Given the description of an element on the screen output the (x, y) to click on. 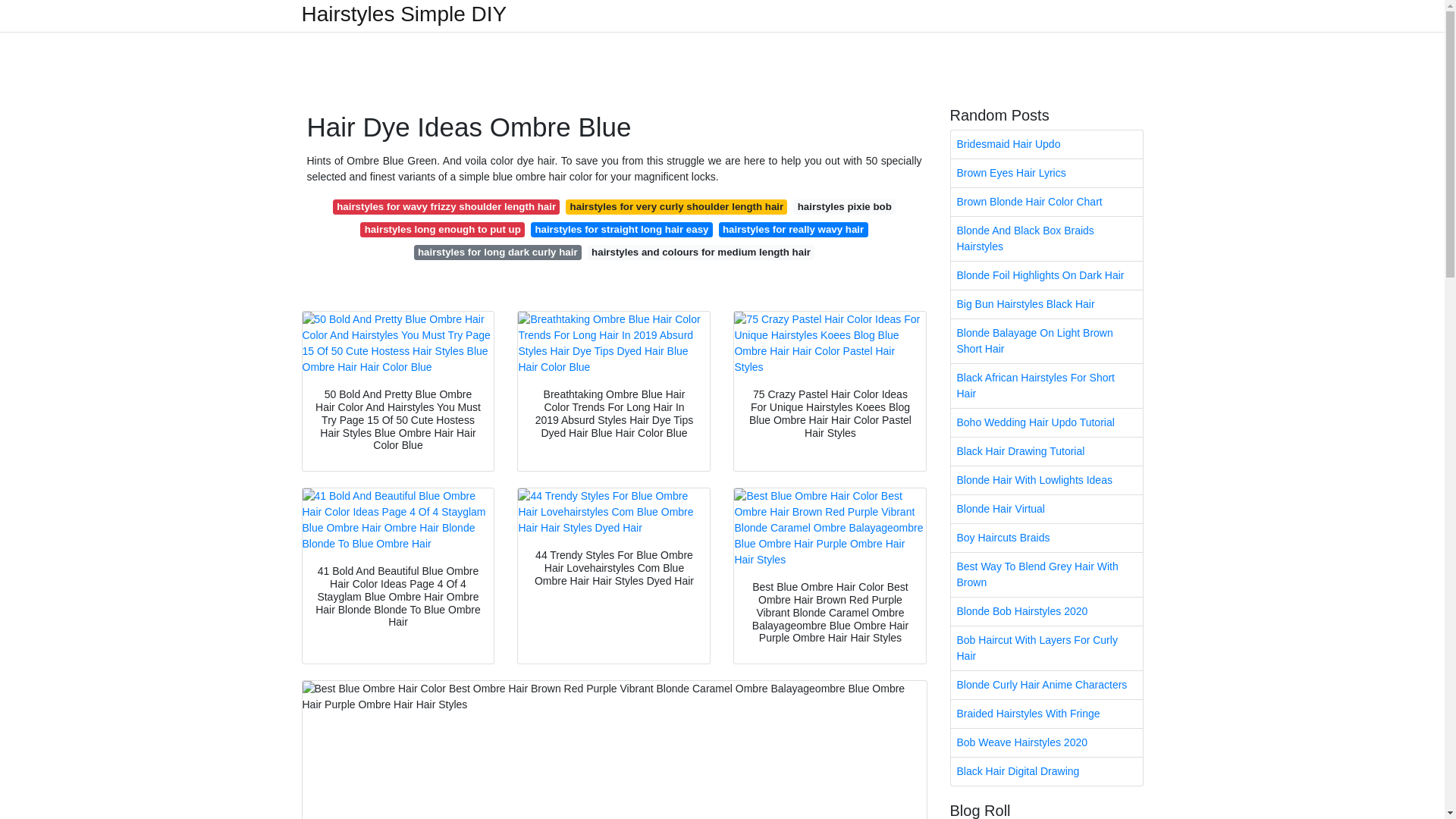
Hairstyles Simple DIY (403, 13)
Boho Wedding Hair Updo Tutorial (1046, 422)
Black Hair Drawing Tutorial (1046, 451)
hairstyles for very curly shoulder length hair (676, 206)
Blonde Balayage On Light Brown Short Hair (1046, 341)
Brown Eyes Hair Lyrics (1046, 172)
hairstyles long enough to put up (441, 229)
Blonde Foil Highlights On Dark Hair (1046, 275)
Bridesmaid Hair Updo (1046, 144)
Hairstyles Simple DIY (403, 13)
Black African Hairstyles For Short Hair (1046, 385)
hairstyles for really wavy hair (793, 229)
Blonde And Black Box Braids Hairstyles (1046, 239)
hairstyles for long dark curly hair (496, 252)
hairstyles and colours for medium length hair (701, 252)
